Given the description of an element on the screen output the (x, y) to click on. 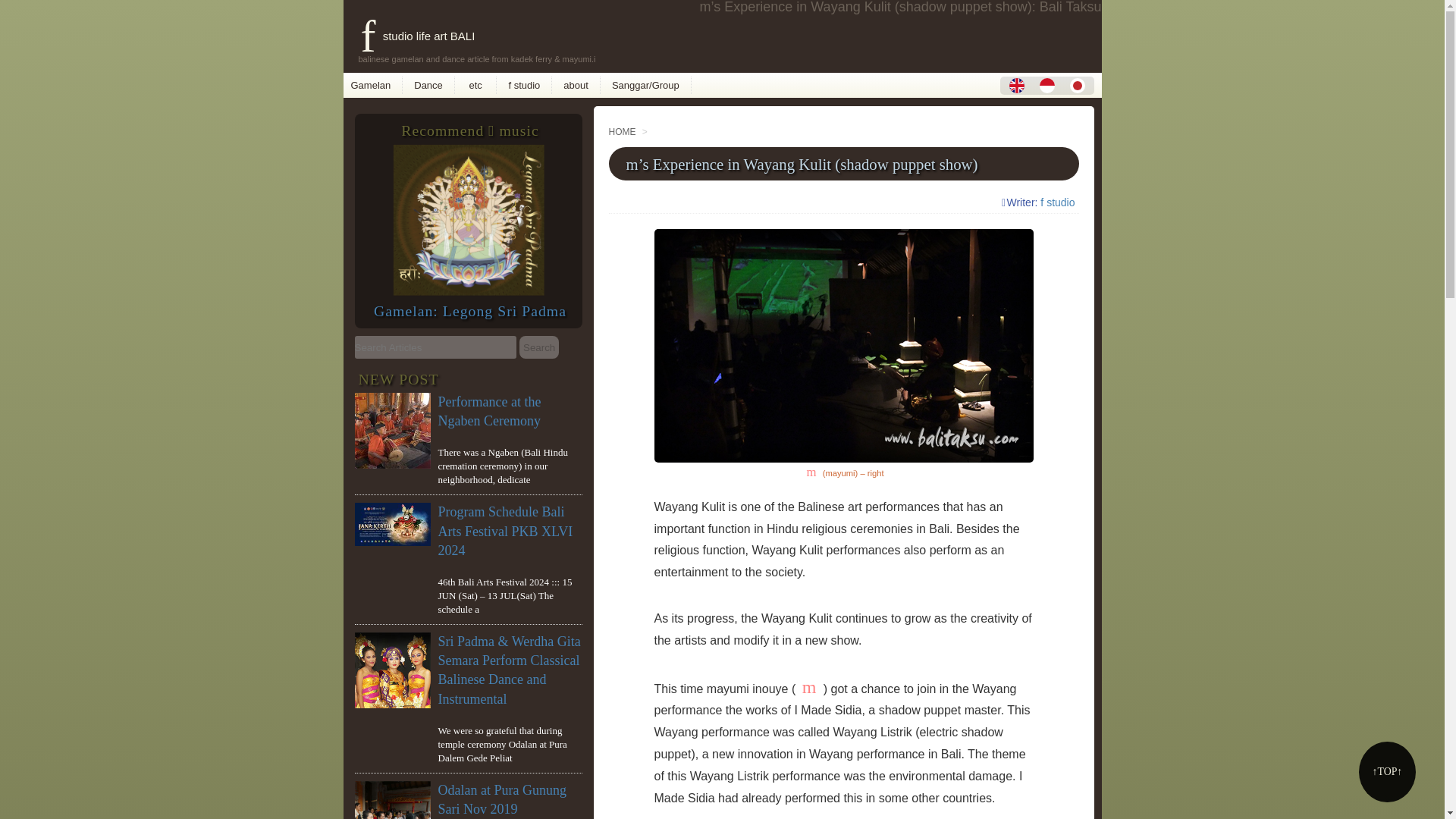
Legong Sri Padma (468, 290)
Gamelan (373, 84)
Odalan at Pura Gunung Sari Nov 2019 (502, 799)
f studio (527, 84)
Performance at the Ngaben Ceremony (489, 410)
Gamelan: Legong Sri Padma (470, 310)
f studio (1057, 202)
Performance at the Ngaben Ceremony (489, 410)
f studio life art BALI (408, 35)
Search (539, 346)
